Given the description of an element on the screen output the (x, y) to click on. 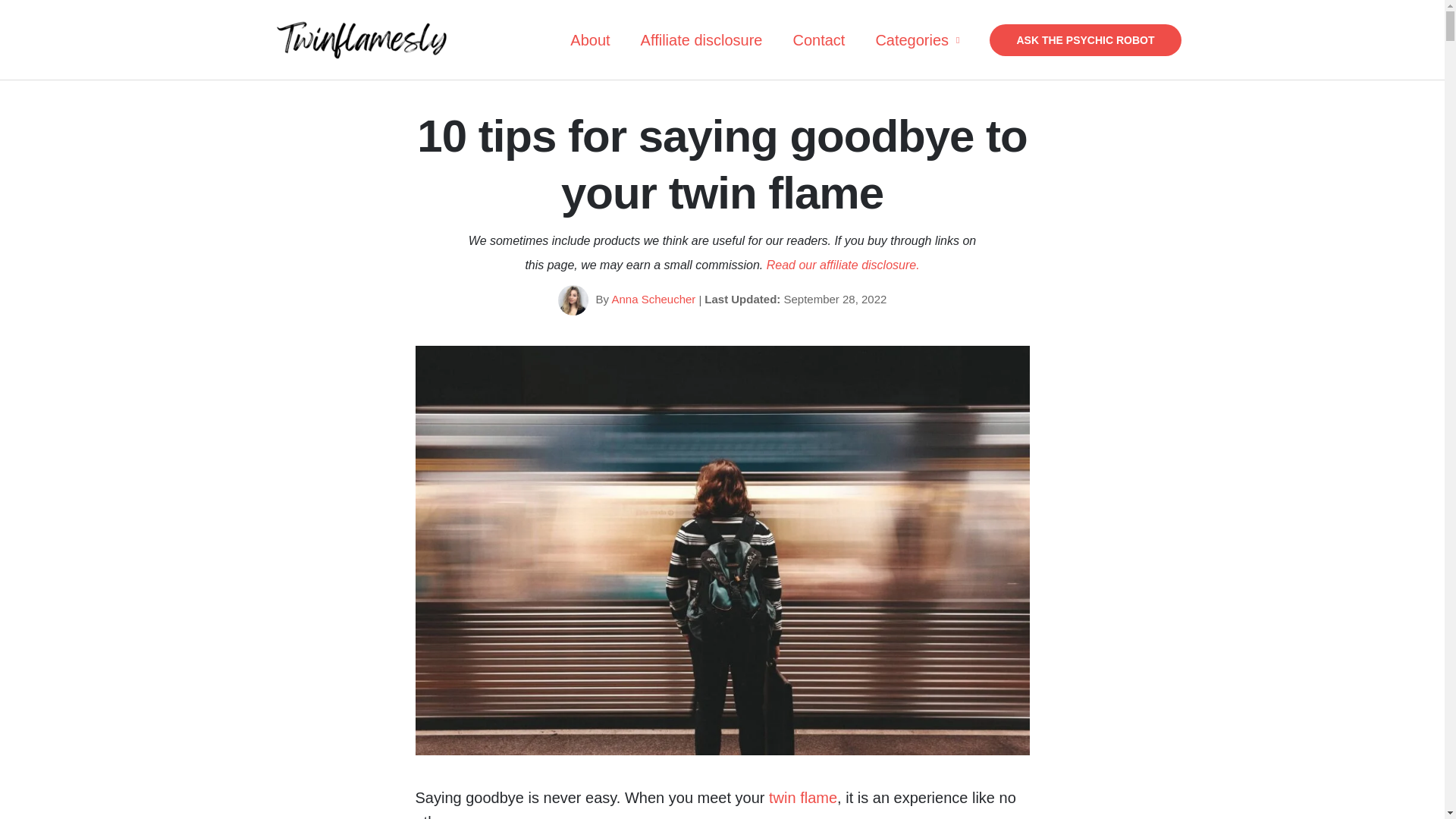
Affiliate disclosure (701, 39)
Categories (917, 39)
ASK THE PSYCHIC ROBOT (1085, 40)
View all posts by Anna Scheucher (653, 298)
Read our affiliate disclosure. (843, 264)
Contact (818, 39)
About (589, 39)
twin flame (802, 797)
Anna Scheucher (653, 298)
